Given the description of an element on the screen output the (x, y) to click on. 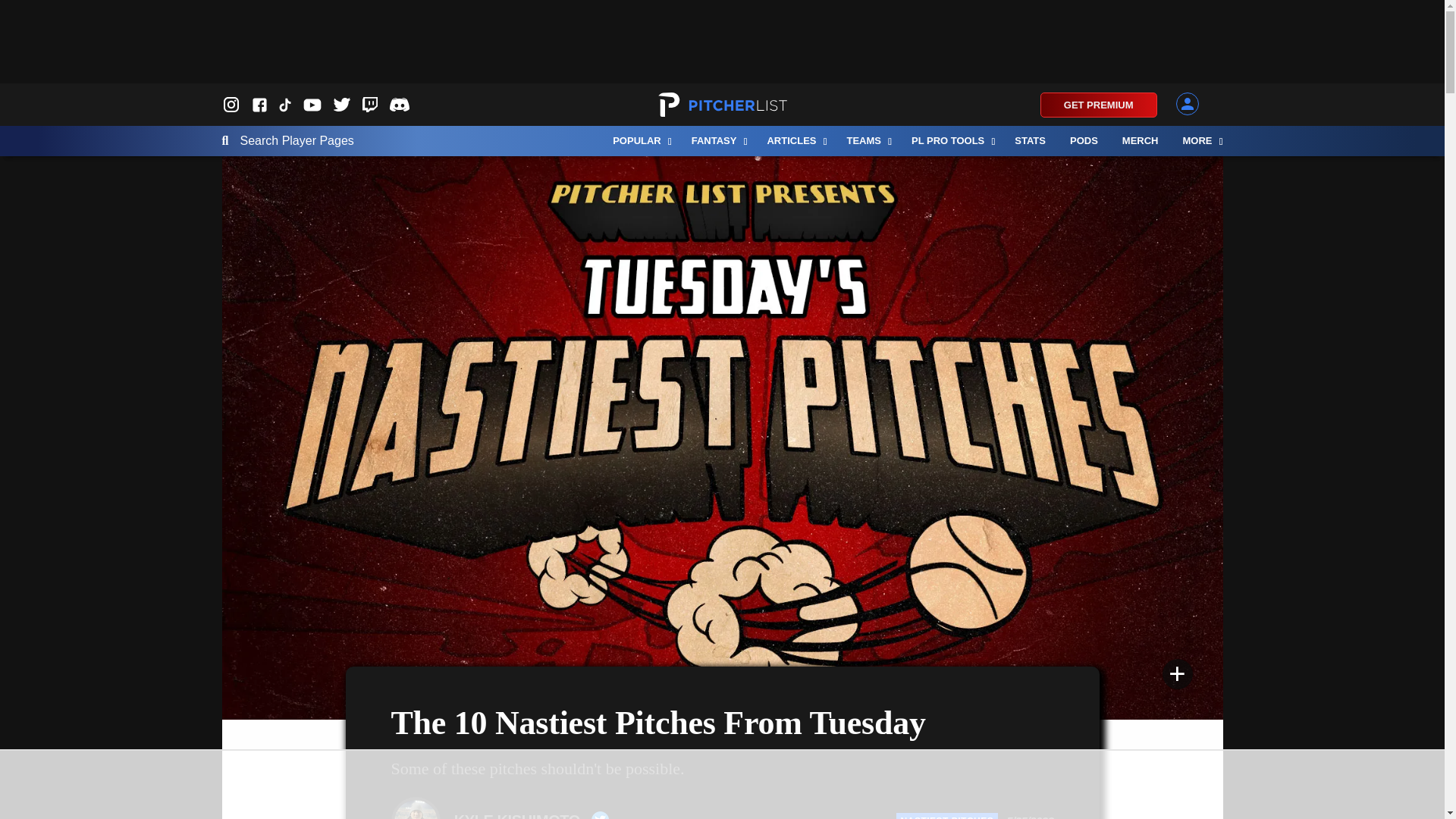
GET PREMIUM (1099, 104)
FANTASY (717, 141)
